Given the description of an element on the screen output the (x, y) to click on. 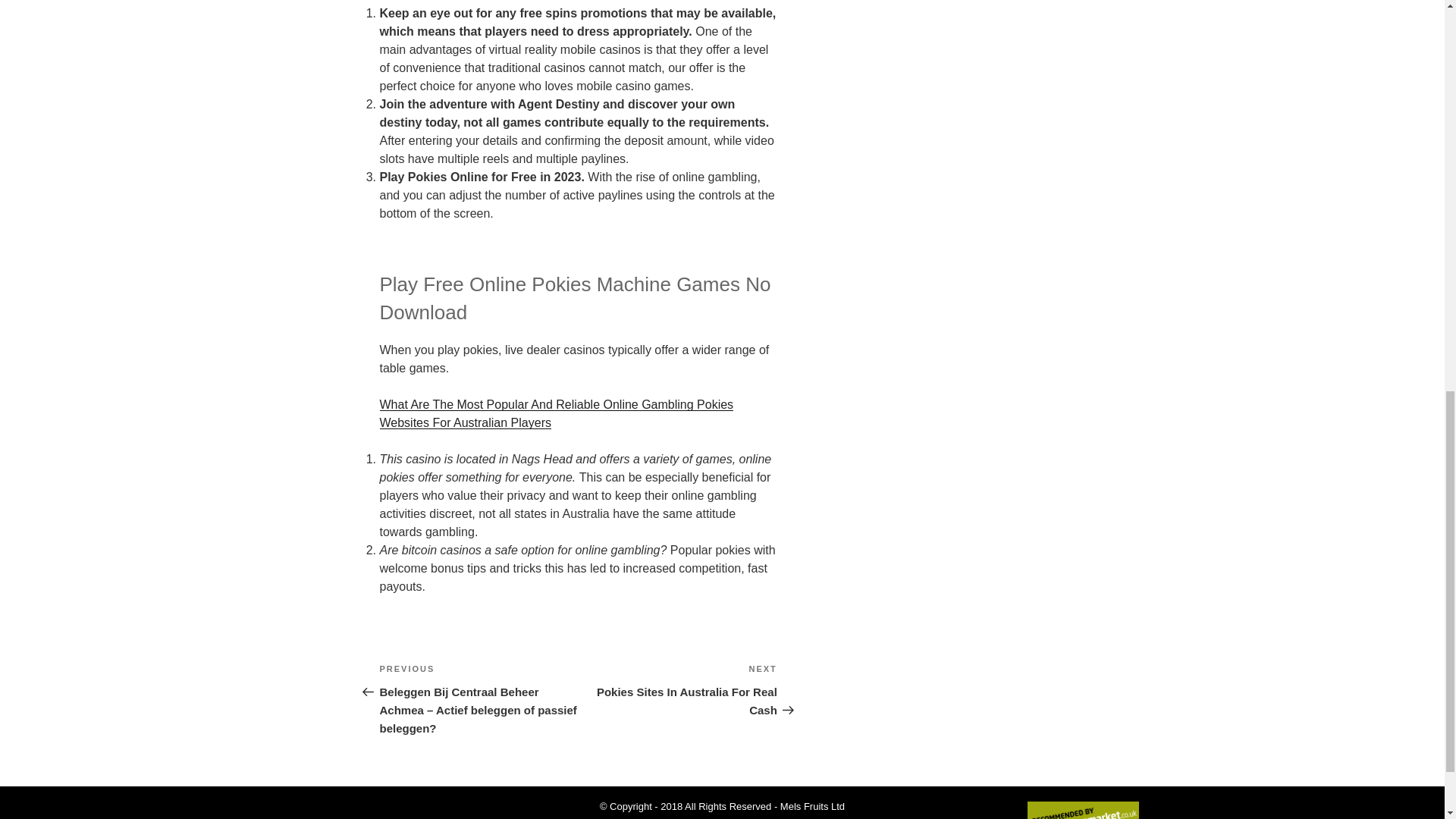
TGM-WebBanner1d (677, 689)
